Given the description of an element on the screen output the (x, y) to click on. 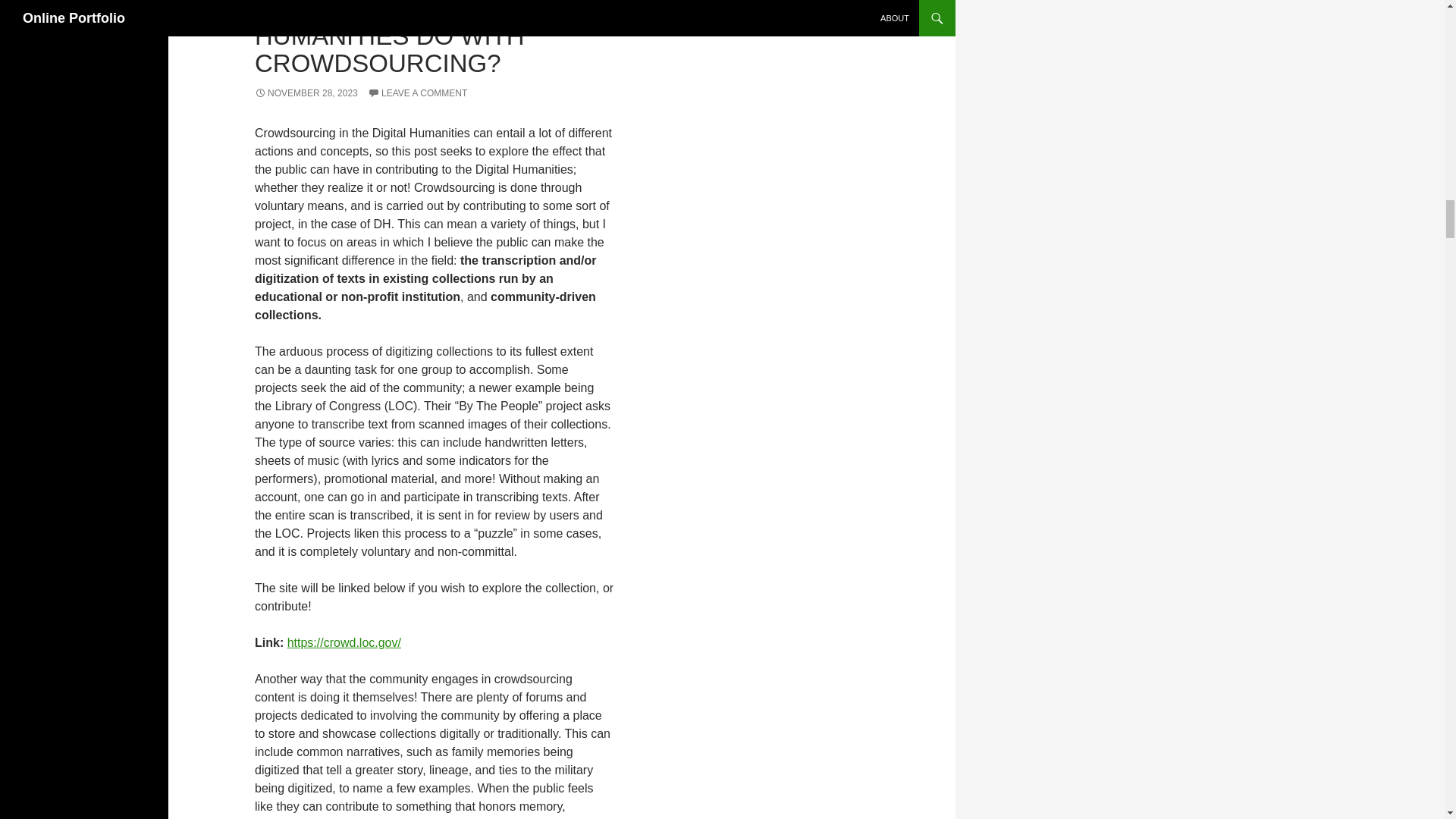
LEAVE A COMMENT (417, 92)
NOVEMBER 28, 2023 (306, 92)
WHAT CAN DIGITAL HUMANITIES DO WITH CROWDSOURCING? (389, 38)
